Given the description of an element on the screen output the (x, y) to click on. 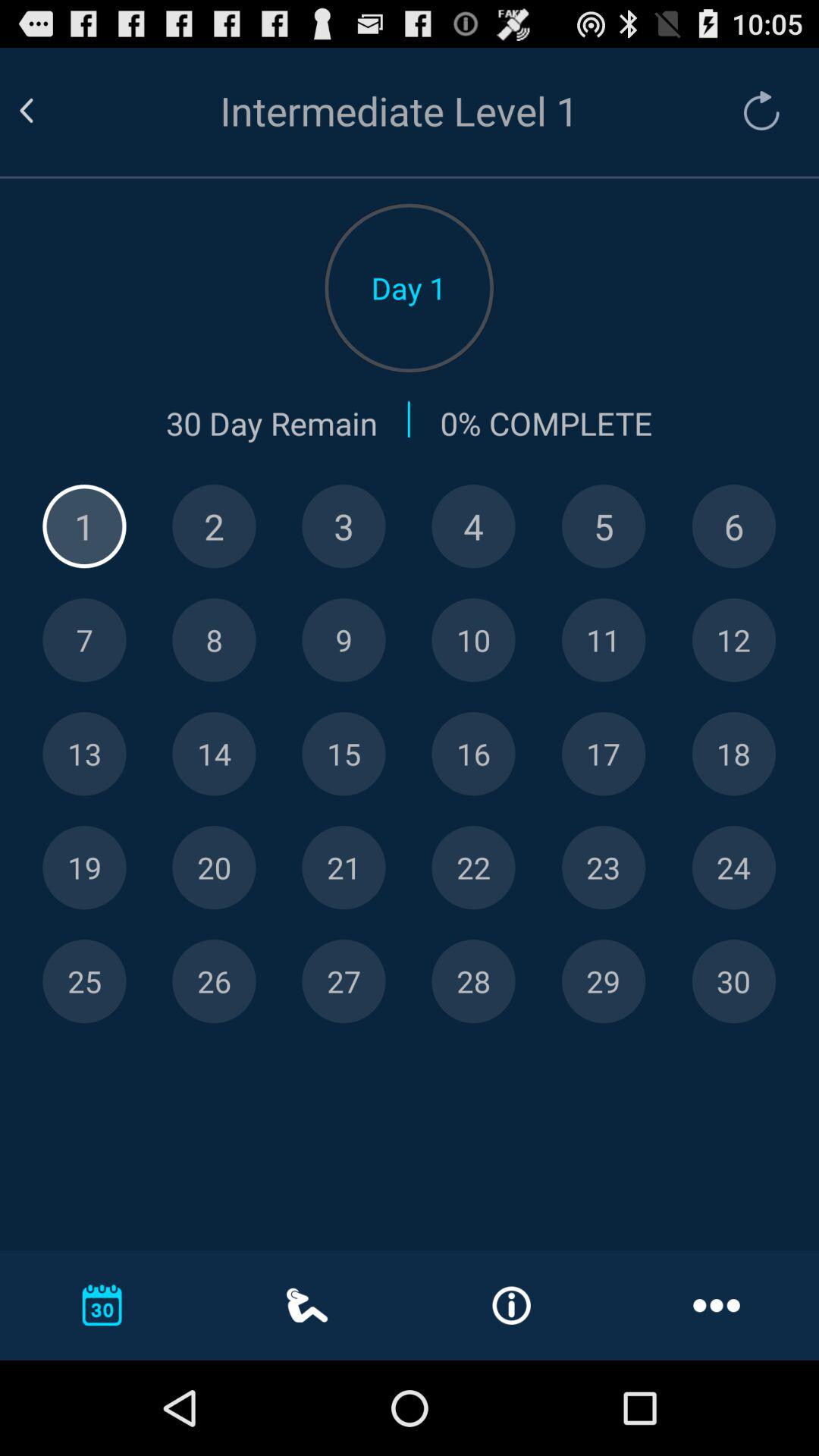
two (213, 526)
